Given the description of an element on the screen output the (x, y) to click on. 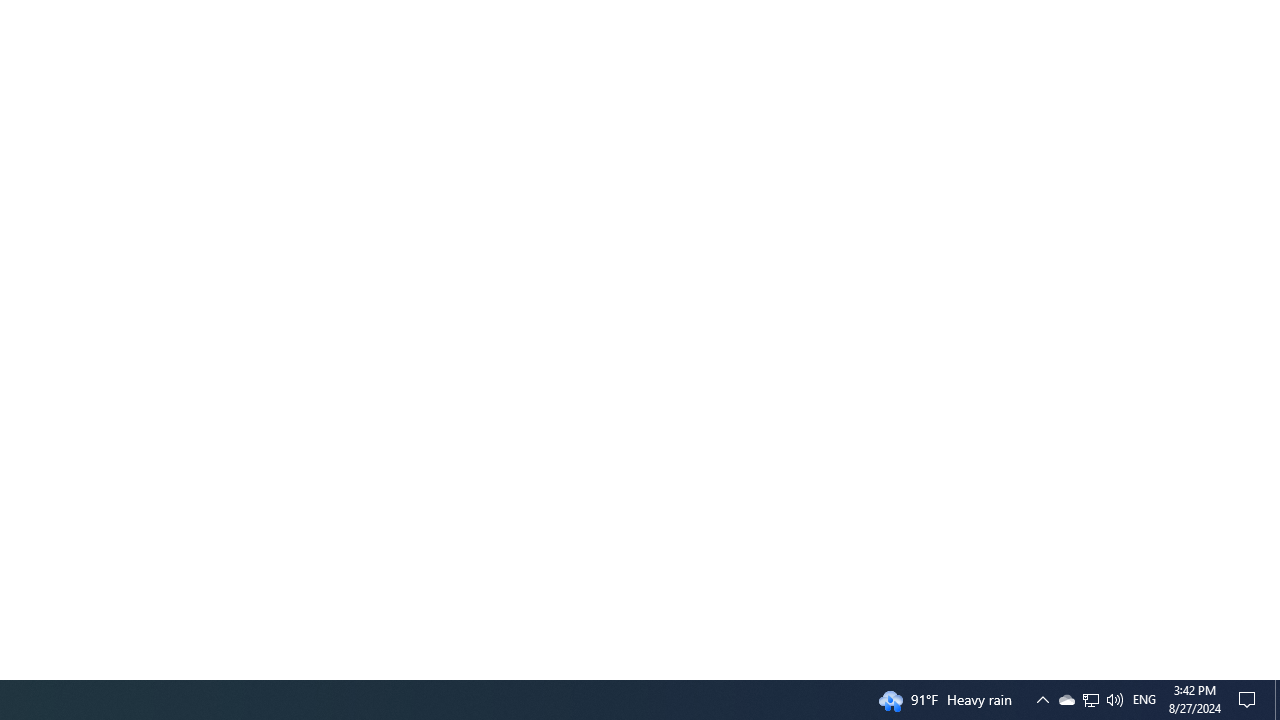
Tray Input Indicator - English (United States) (1144, 699)
